Given the description of an element on the screen output the (x, y) to click on. 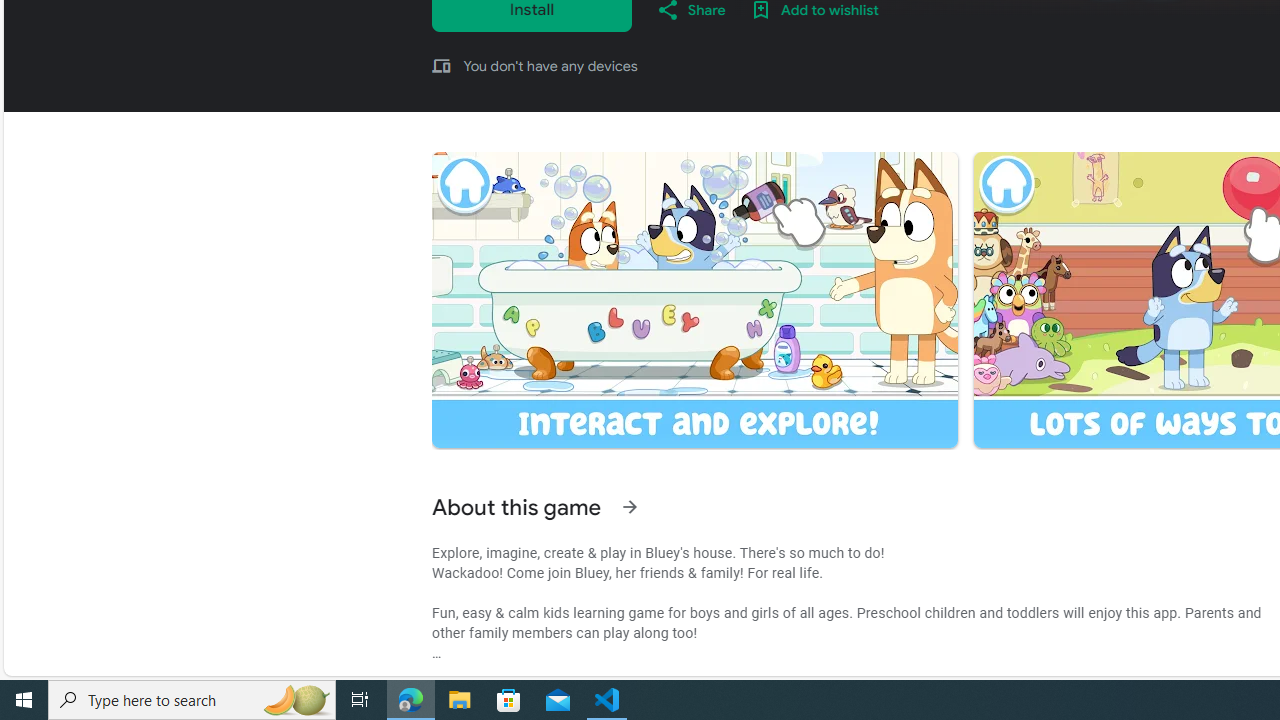
See more information on About this game (629, 507)
Screenshot image (694, 299)
Class: ULeU3b Utde2e (694, 300)
You don't have any devices (550, 65)
